Given the description of an element on the screen output the (x, y) to click on. 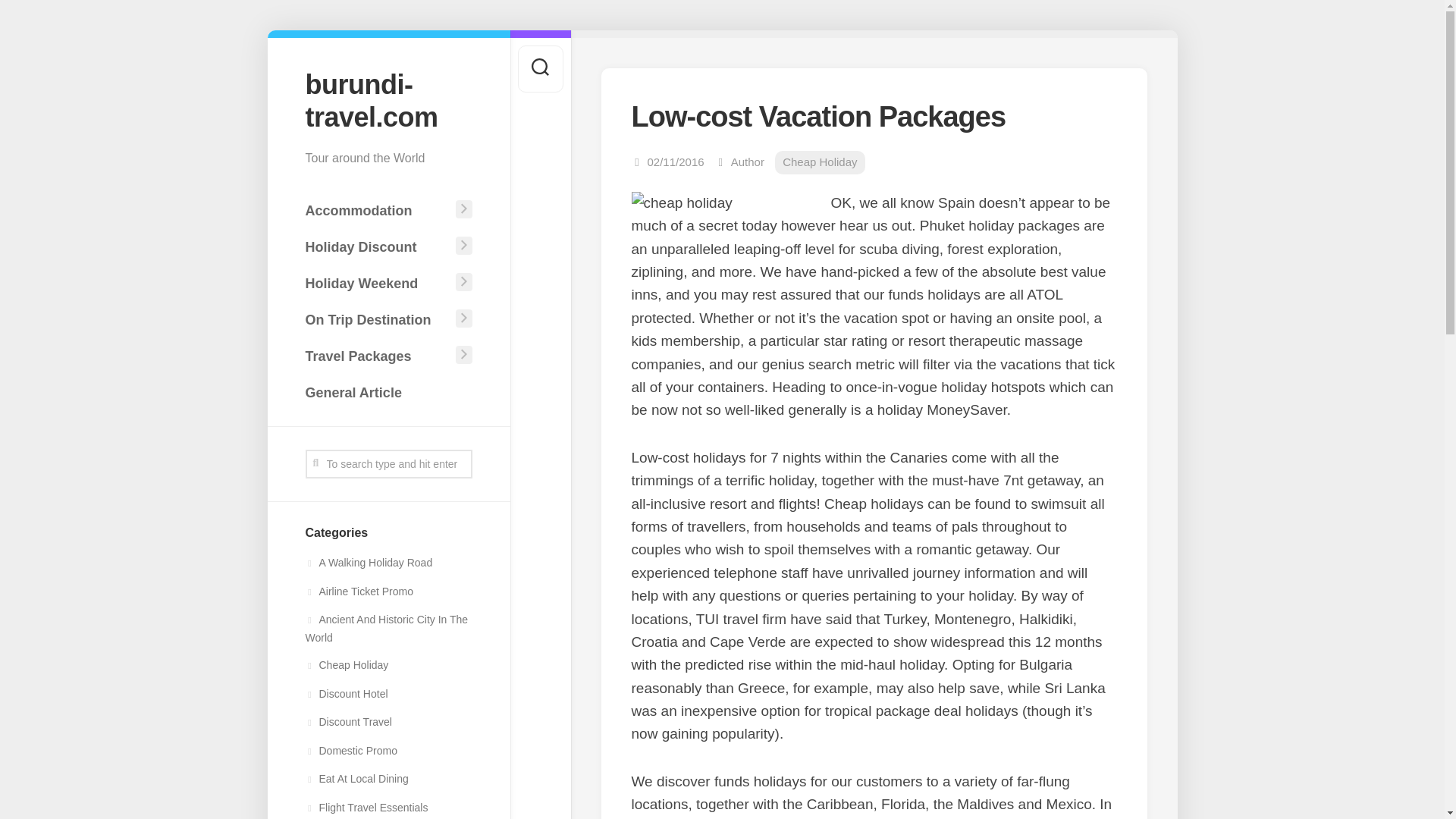
To search type and hit enter (387, 463)
Travel Packages (376, 356)
Airline Ticket Promo (358, 591)
General Article (387, 392)
Accommodation (376, 210)
Ancient And Historic City In The World (385, 628)
A Walking Holiday Road (368, 562)
burundi-travel.com (387, 100)
Discount Hotel (345, 693)
Discount Travel (347, 721)
